Given the description of an element on the screen output the (x, y) to click on. 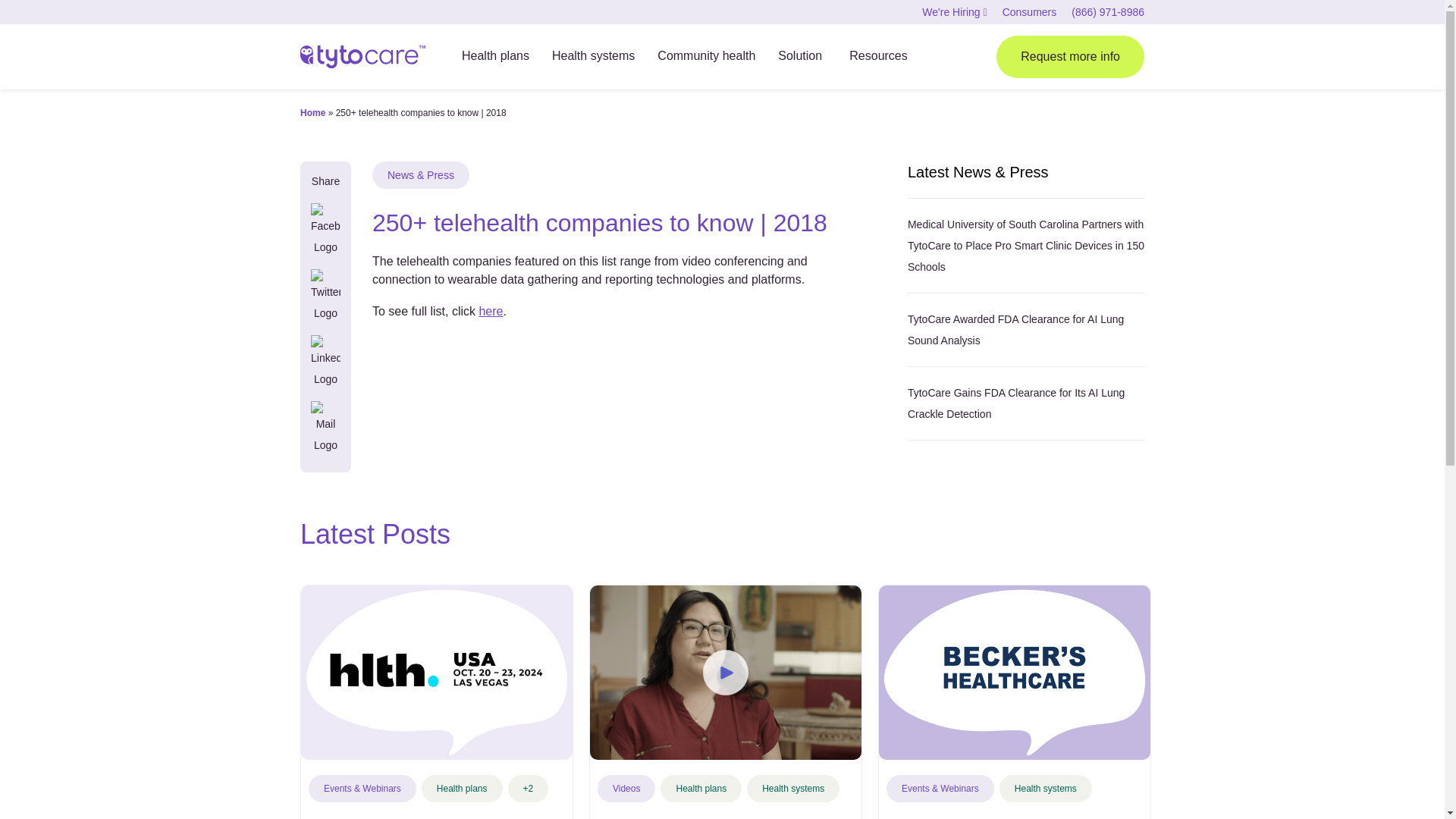
Health systems (592, 58)
TytoCare Awarded FDA Clearance for AI Lung Sound Analysis (1015, 329)
Home (311, 112)
here (490, 310)
TytoCare Awarded FDA Clearance for AI Lung Sound Analysis (1015, 329)
Consumers (1030, 11)
Health plans (495, 58)
Solution (802, 58)
